Given the description of an element on the screen output the (x, y) to click on. 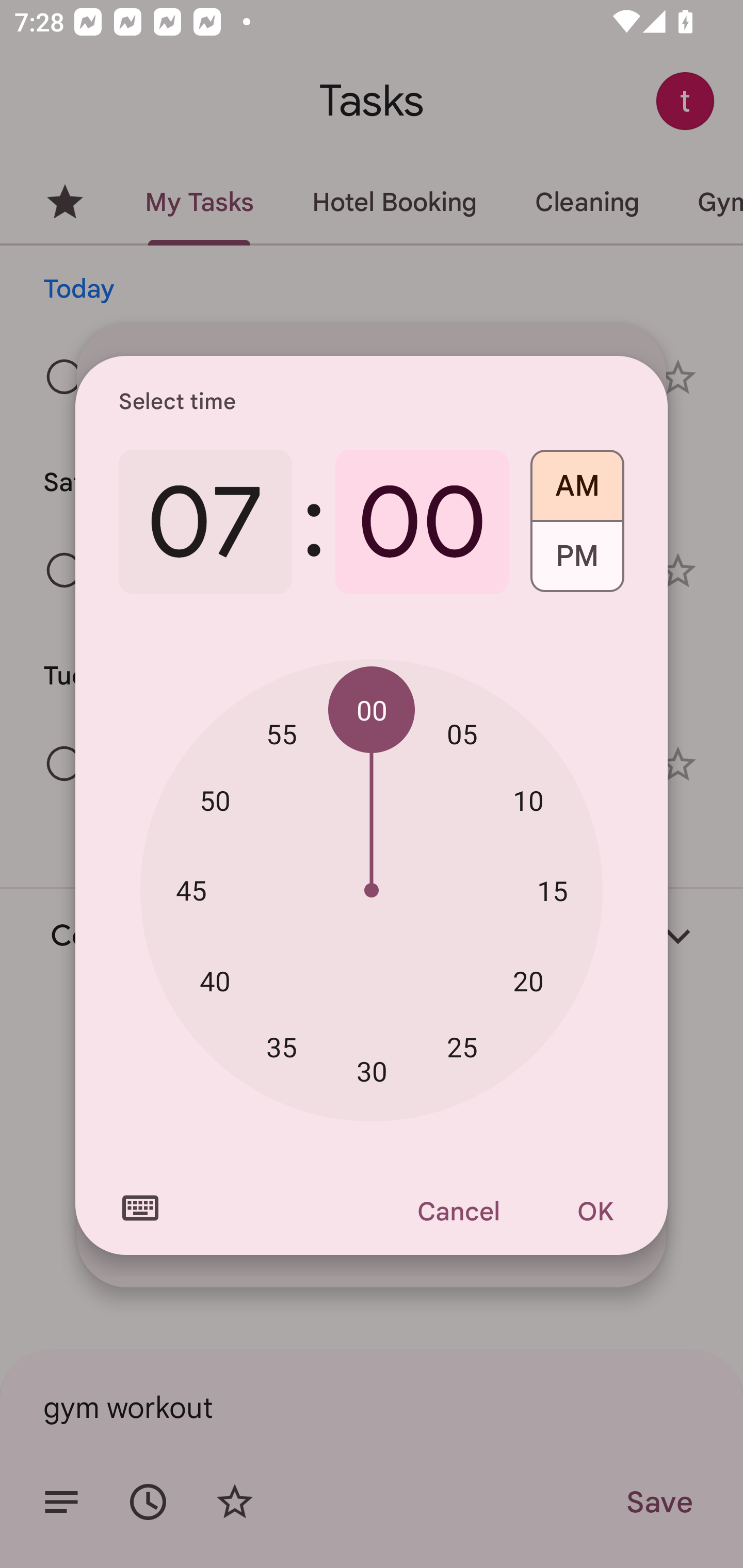
AM (577, 478)
07 7 o'clock (204, 522)
00 0 minutes (421, 522)
PM (577, 563)
00 00 minutes (371, 710)
55 55 minutes (281, 733)
05 05 minutes (462, 733)
50 50 minutes (214, 800)
10 10 minutes (528, 800)
45 45 minutes (190, 889)
15 15 minutes (551, 890)
40 40 minutes (214, 980)
20 20 minutes (528, 980)
35 35 minutes (281, 1046)
25 25 minutes (462, 1046)
30 30 minutes (371, 1071)
Switch to text input mode for the time input. (140, 1208)
Cancel (458, 1211)
OK (595, 1211)
